Given the description of an element on the screen output the (x, y) to click on. 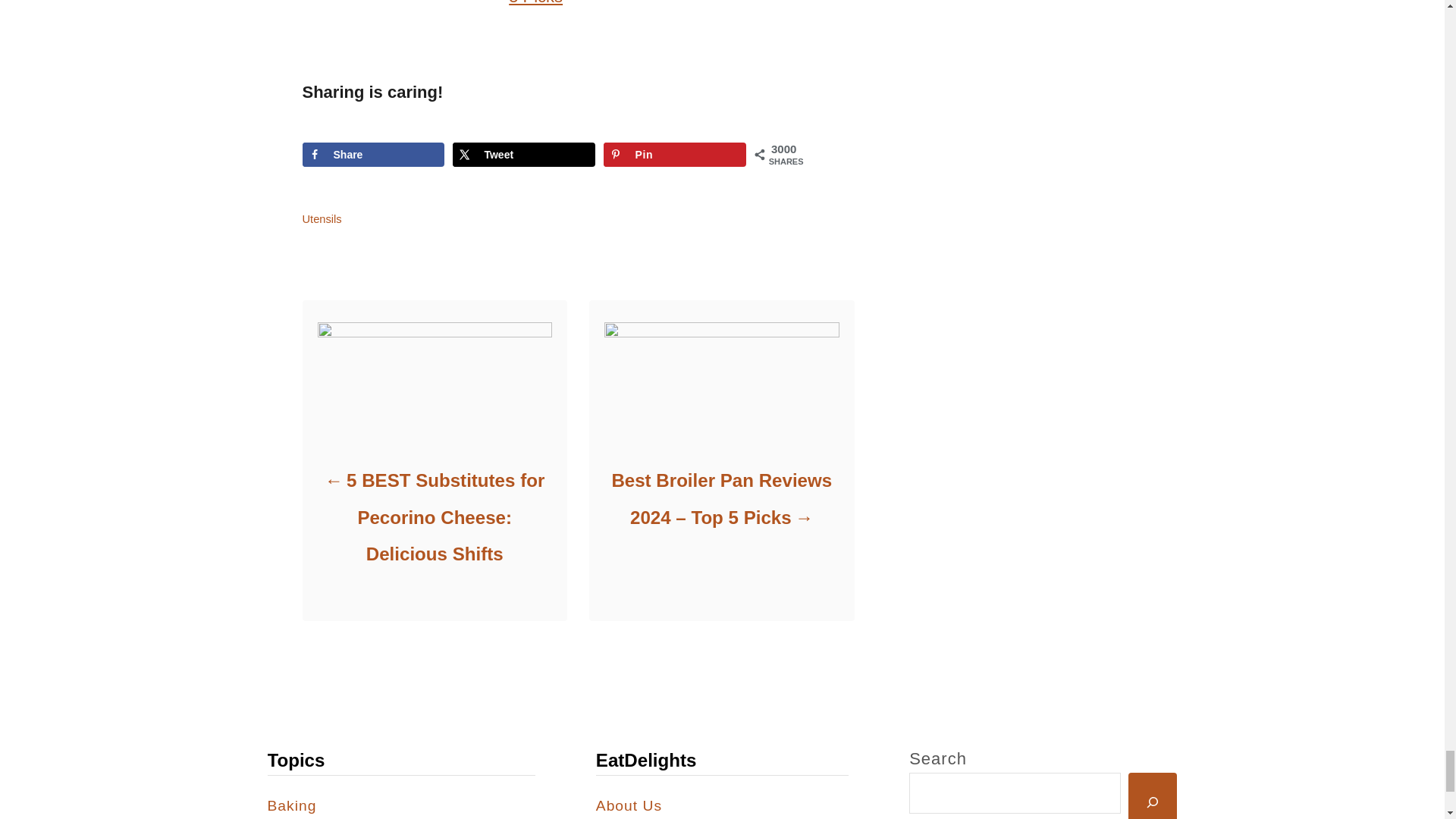
Share on Facebook (372, 154)
Save to Pinterest (674, 154)
Share on X (523, 154)
